Given the description of an element on the screen output the (x, y) to click on. 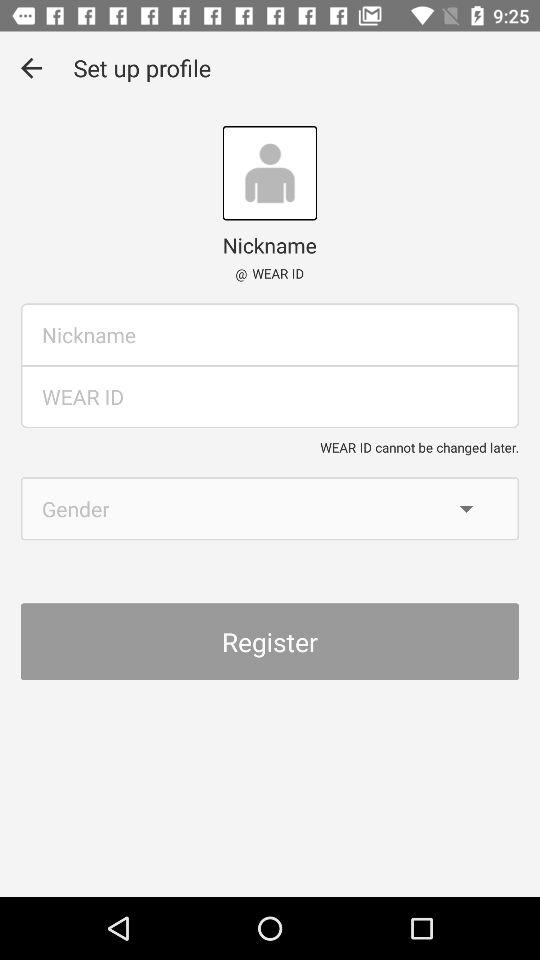
password (270, 396)
